Given the description of an element on the screen output the (x, y) to click on. 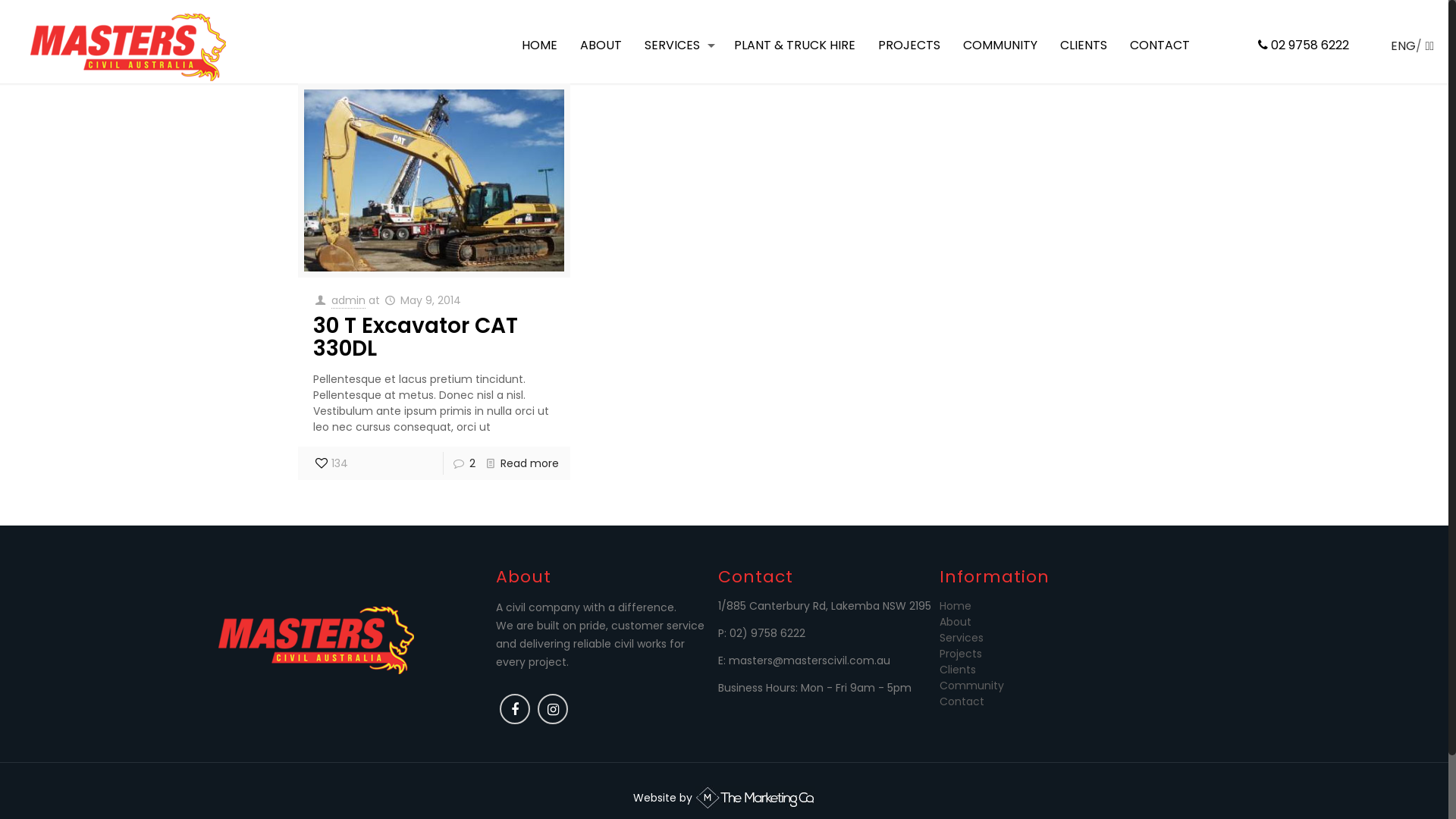
Community Element type: text (971, 685)
Home Element type: text (955, 605)
2 Element type: text (472, 462)
PLANT & TRUCK HIRE Element type: text (794, 45)
PROJECTS Element type: text (908, 45)
admin Element type: text (348, 300)
Services Element type: text (961, 637)
Masters Civil Element type: hover (128, 46)
HOME Element type: text (539, 45)
About Element type: text (955, 621)
COMMUNITY Element type: text (999, 45)
Read more Element type: text (529, 462)
Instagram Element type: hover (552, 708)
Facebook Element type: hover (514, 708)
ENG Element type: text (1402, 45)
CLIENTS Element type: text (1083, 45)
02 9758 6222 Element type: text (1295, 45)
Contact Element type: text (961, 701)
Clients Element type: text (957, 669)
30 T Excavator CAT 330DL Element type: text (415, 336)
Projects Element type: text (960, 653)
134 Element type: text (330, 462)
CONTACT Element type: text (1159, 45)
Facebook Element type: hover (514, 709)
ABOUT Element type: text (600, 45)
SERVICES Element type: text (677, 45)
Instagram Element type: hover (552, 709)
